Given the description of an element on the screen output the (x, y) to click on. 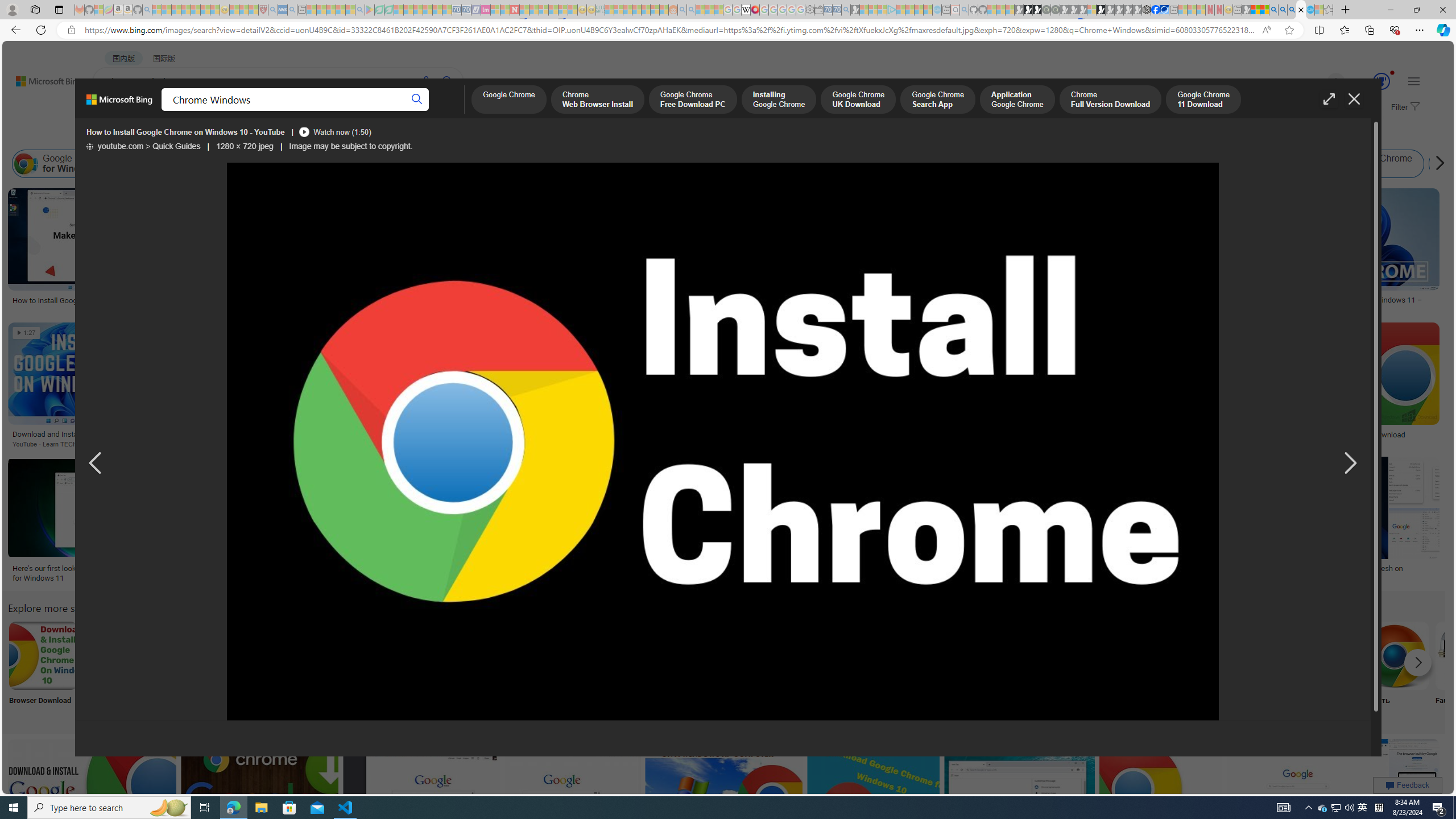
Windows 8 Chrome (167, 163)
2009 Bing officially replaced Live Search on June 3 - Search (1283, 9)
Windows-10-Google-Chrome - Windows Mode (623, 568)
Previous image result (95, 463)
DICT (407, 111)
Chrome for Windows 11 (1257, 163)
Chromebook Accessories (877, 227)
Application Google Chrome (1017, 100)
Microsoft Rewards 84 (1370, 81)
New Report Confirms 2023 Was Record Hot | Watch - Sleeping (195, 9)
Google Chrome for Windows (65, 163)
